Given the description of an element on the screen output the (x, y) to click on. 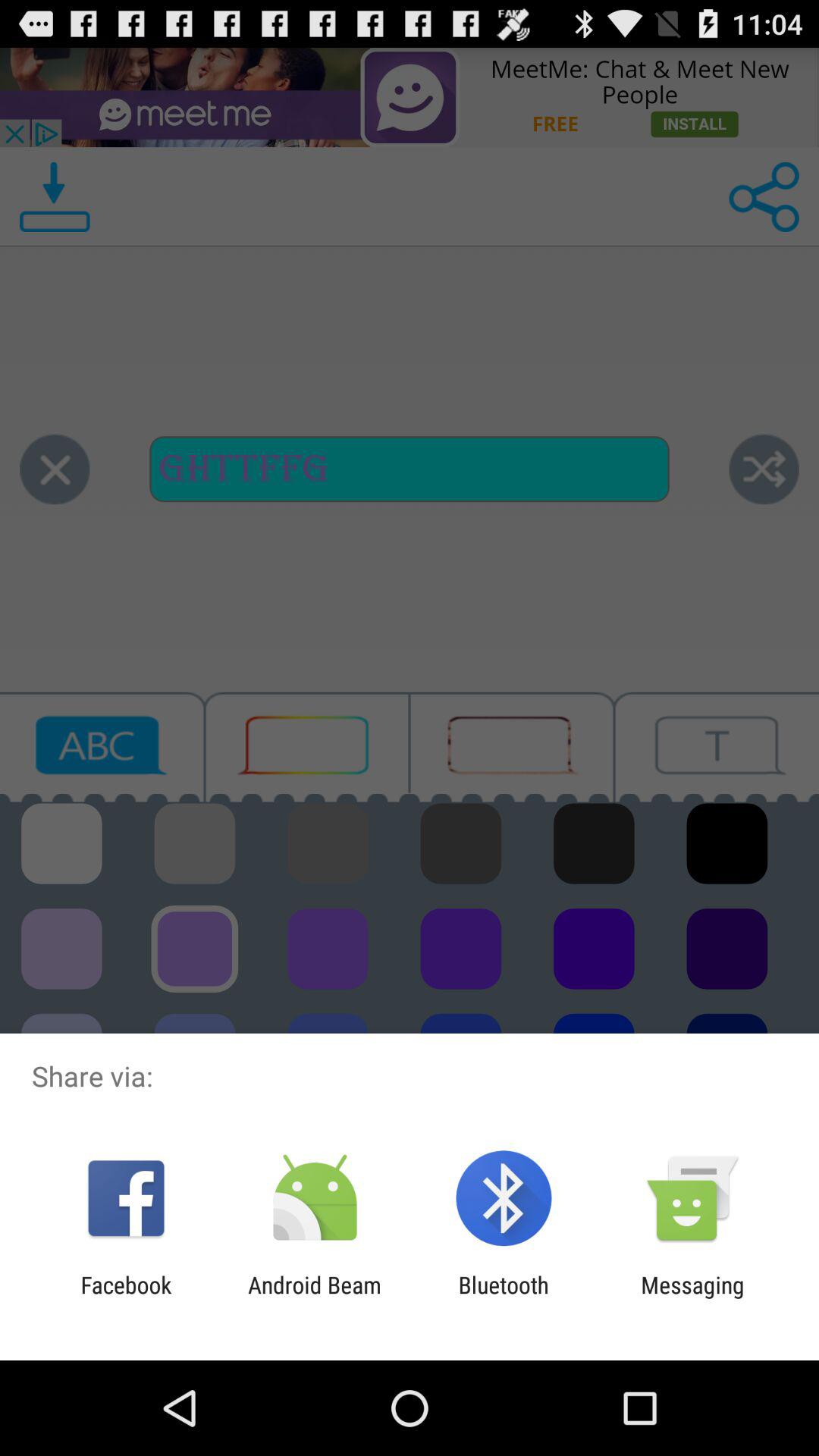
jump until messaging app (692, 1298)
